Given the description of an element on the screen output the (x, y) to click on. 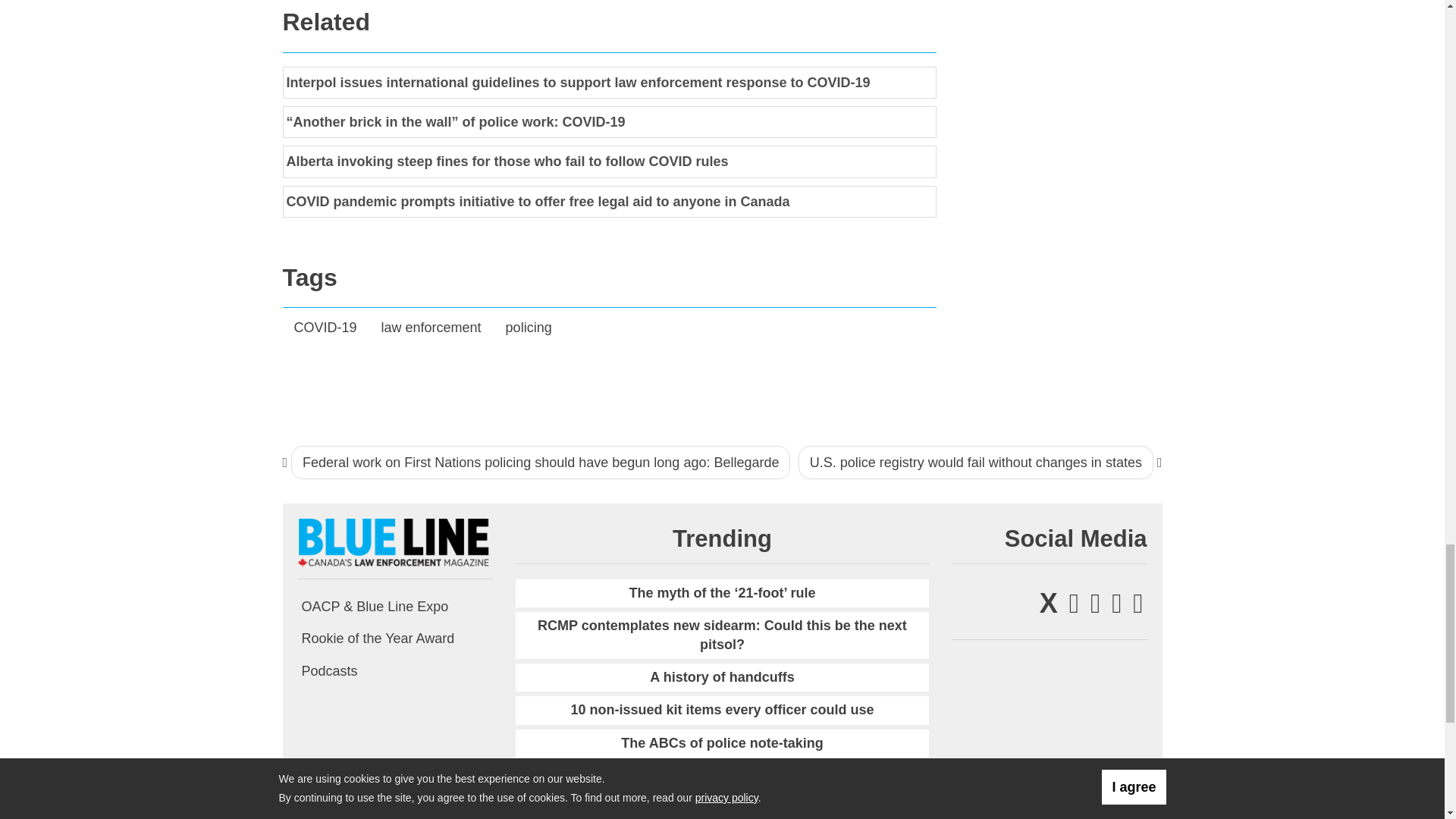
Blue Line (395, 541)
